Given the description of an element on the screen output the (x, y) to click on. 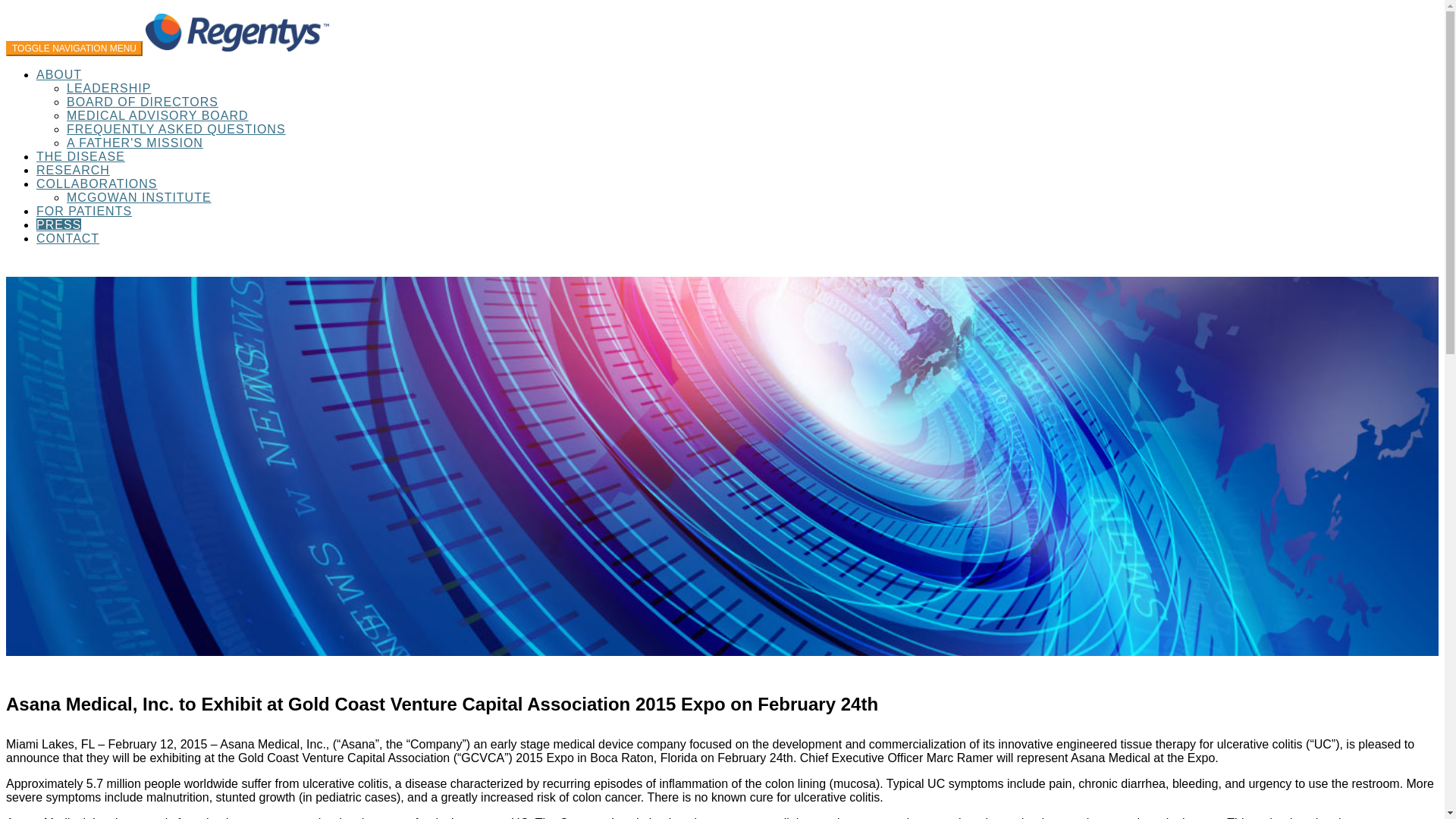
FREQUENTLY ASKED QUESTIONS (175, 128)
LEADERSHIP (108, 88)
THE DISEASE (80, 155)
A FATHER'S MISSION (134, 142)
TOGGLE NAVIGATION MENU (73, 48)
CONTACT (67, 237)
ABOUT (58, 74)
MCGOWAN INSTITUTE (138, 196)
FOR PATIENTS (84, 210)
BOARD OF DIRECTORS (142, 101)
PRESS (58, 224)
COLLABORATIONS (96, 183)
MEDICAL ADVISORY BOARD (157, 115)
RESEARCH (73, 169)
